Given the description of an element on the screen output the (x, y) to click on. 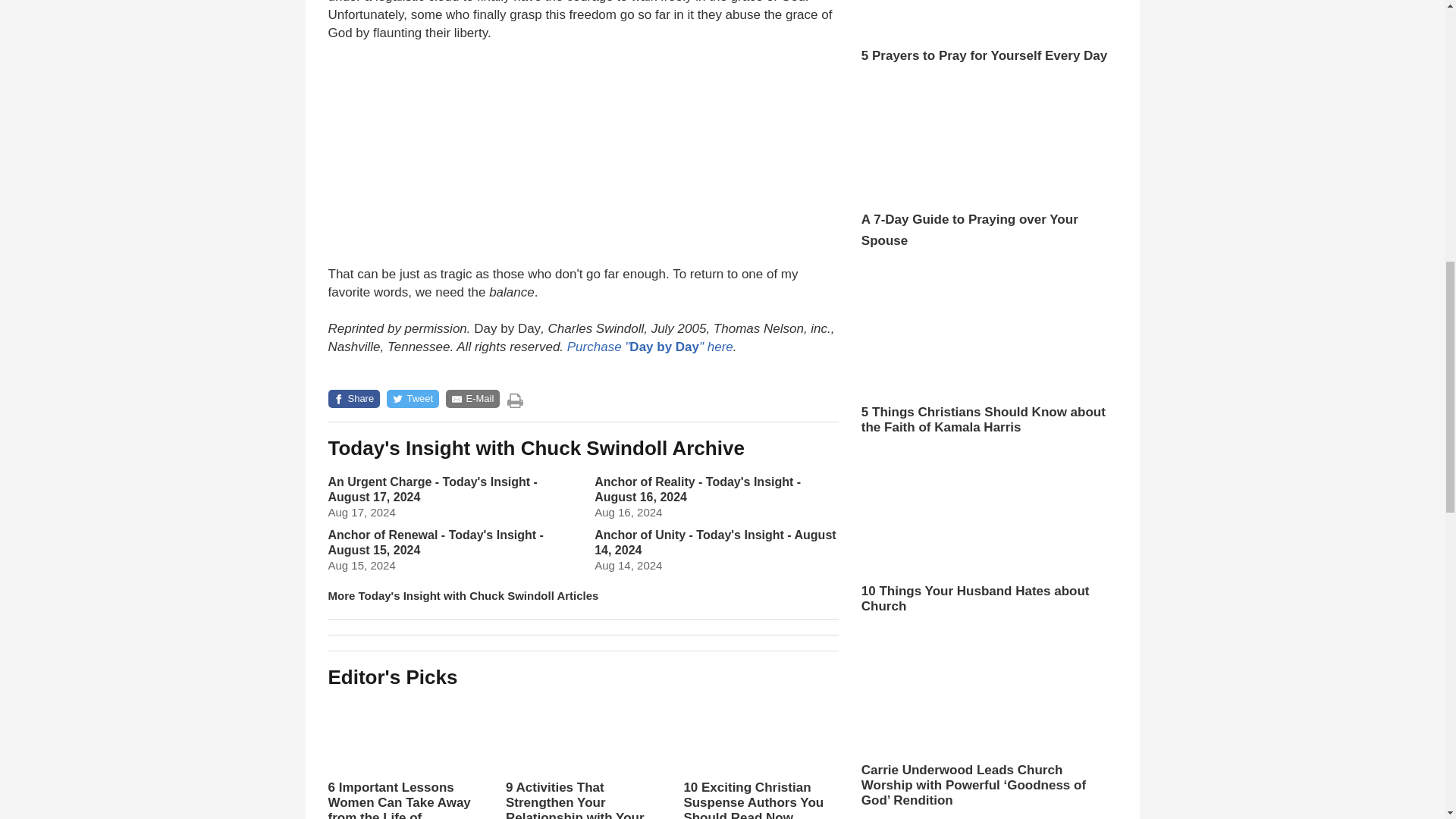
10 Exciting Christian Suspense Authors You Should Read Now (760, 757)
